Given the description of an element on the screen output the (x, y) to click on. 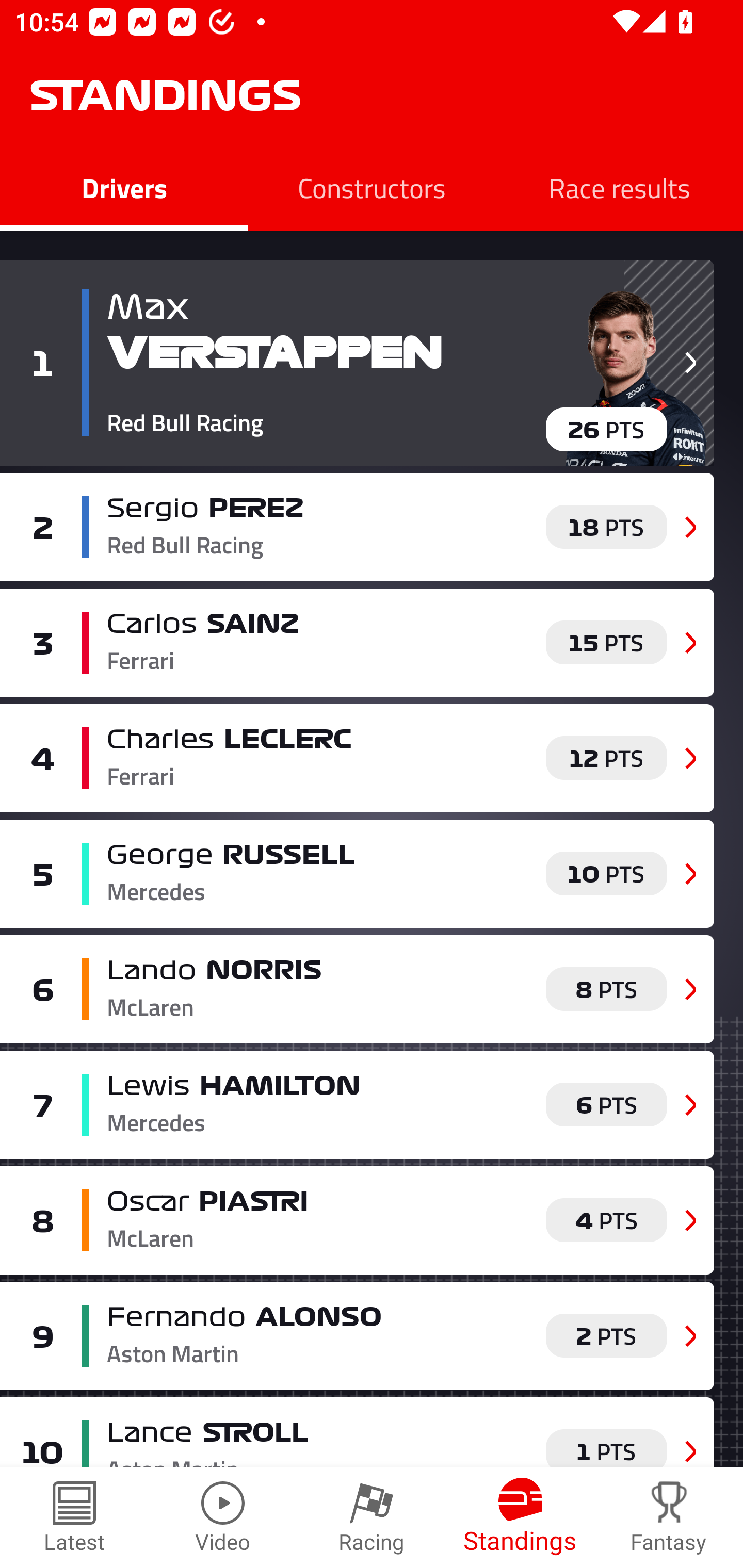
Constructors (371, 187)
Race results (619, 187)
1 Max VERSTAPPEN Red Bull Racing 26 PTS (357, 362)
2 Sergio PEREZ Red Bull Racing 18 PTS (357, 527)
3 Carlos SAINZ Ferrari 15 PTS (357, 642)
4 Charles LECLERC Ferrari 12 PTS (357, 758)
5 George RUSSELL Mercedes 10 PTS (357, 874)
6 Lando NORRIS McLaren 8 PTS (357, 988)
7 Lewis HAMILTON Mercedes 6 PTS (357, 1104)
8 Oscar PIASTRI McLaren 4 PTS (357, 1220)
9 Fernando ALONSO Aston Martin 2 PTS (357, 1335)
10 Lance STROLL Aston Martin 1 PTS (357, 1432)
Latest (74, 1517)
Video (222, 1517)
Racing (371, 1517)
Fantasy (668, 1517)
